Given the description of an element on the screen output the (x, y) to click on. 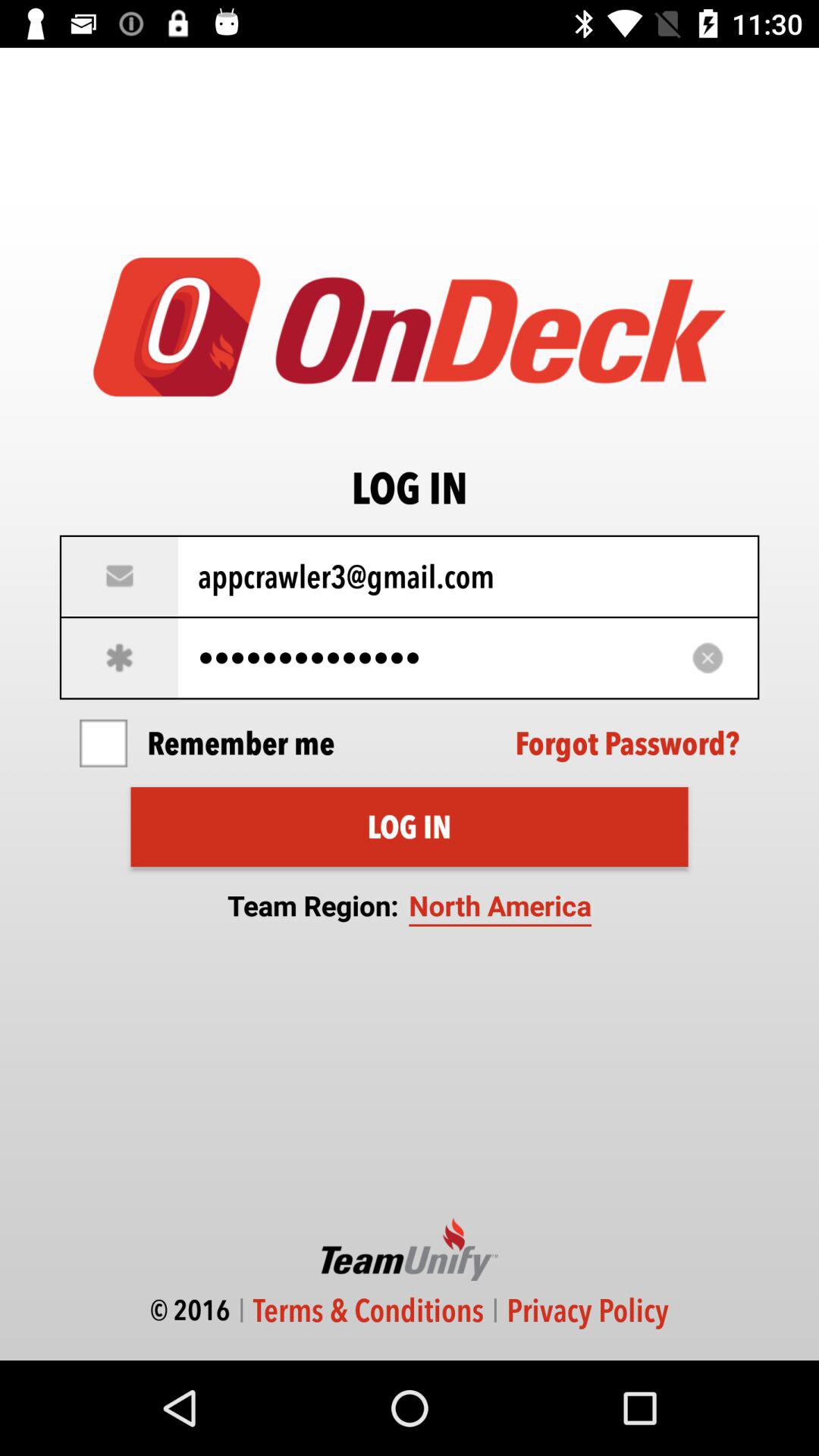
swipe until the terms & conditions icon (368, 1310)
